Given the description of an element on the screen output the (x, y) to click on. 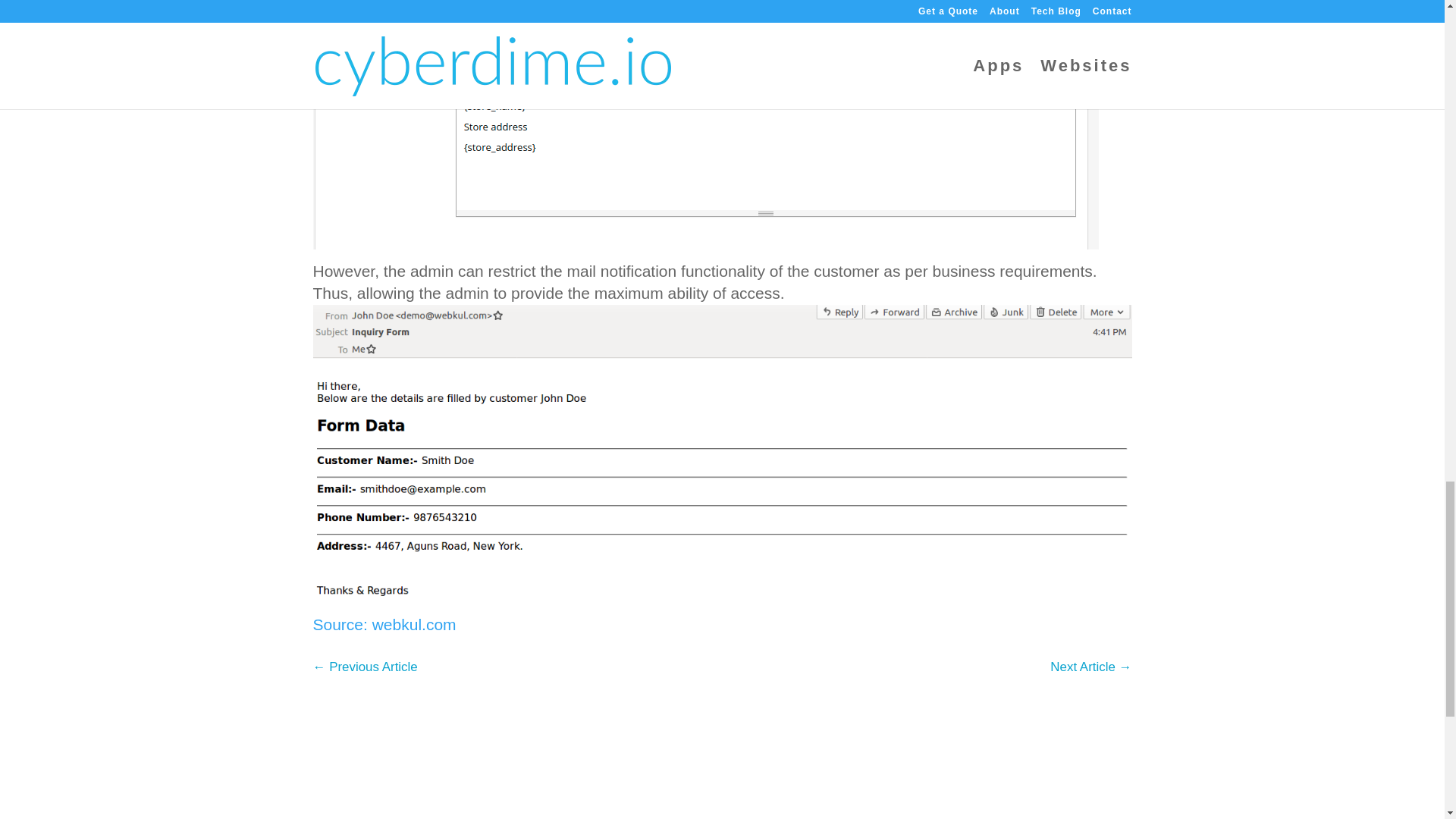
Source: webkul.com (384, 624)
